Given the description of an element on the screen output the (x, y) to click on. 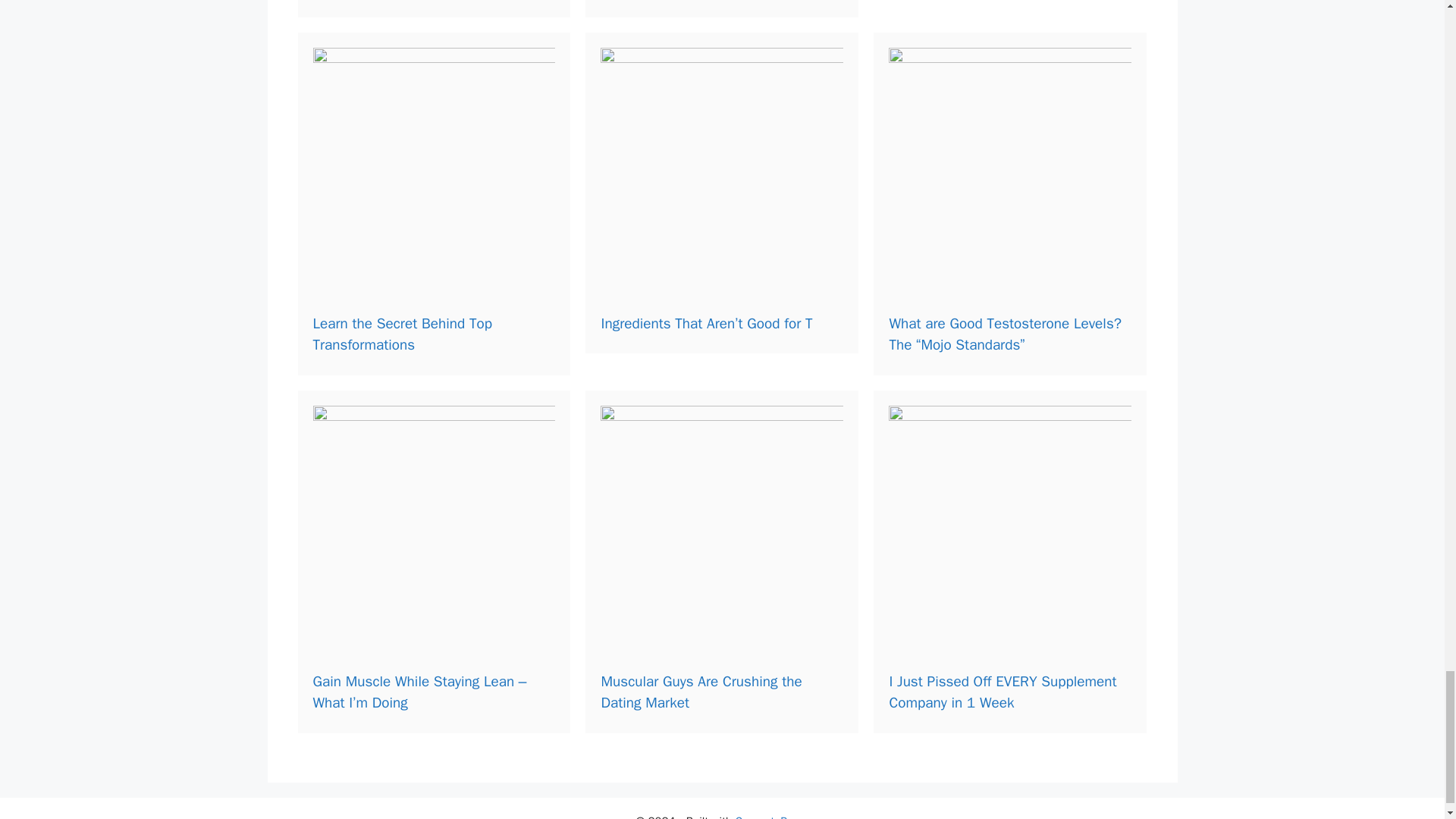
GeneratePress (772, 816)
Muscular Guys Are Crushing the Dating Market (700, 691)
Learn the Secret Behind Top Transformations (402, 334)
I Just Pissed Off EVERY Supplement Company in 1 Week (1002, 691)
